Given the description of an element on the screen output the (x, y) to click on. 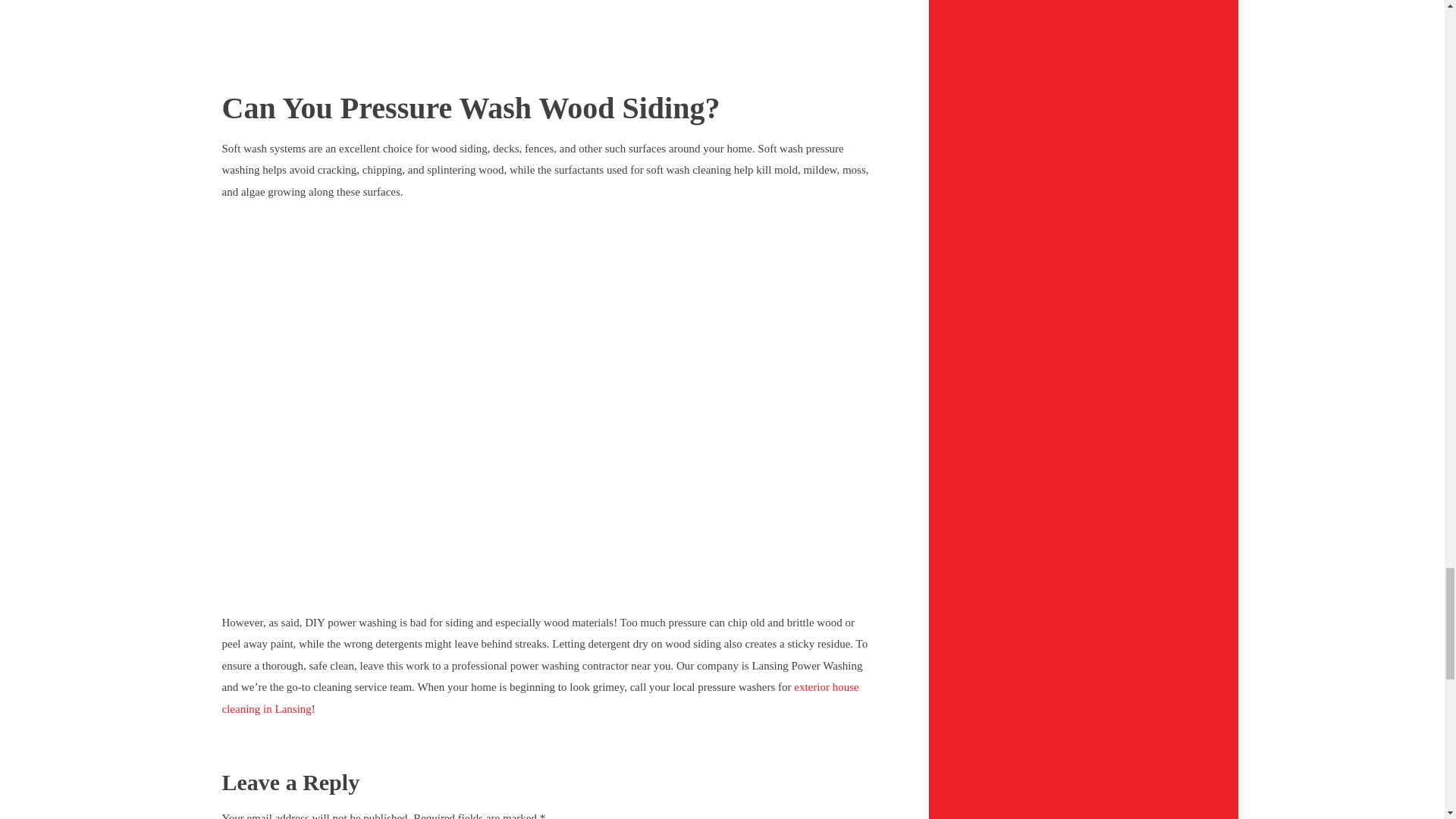
exterior house cleaning in Lansing (540, 697)
